Given the description of an element on the screen output the (x, y) to click on. 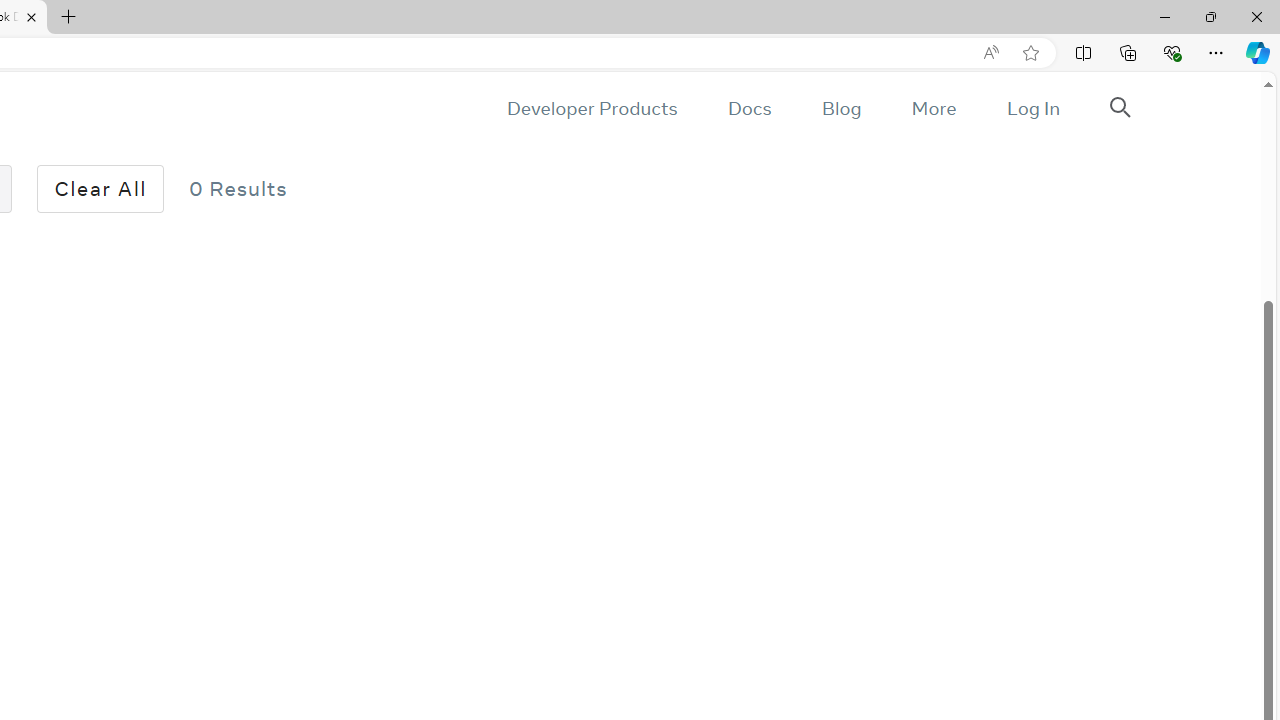
Blog (841, 108)
Blog (841, 108)
Docs (749, 108)
Docs (749, 108)
Log In (1032, 108)
More (933, 108)
